Given the description of an element on the screen output the (x, y) to click on. 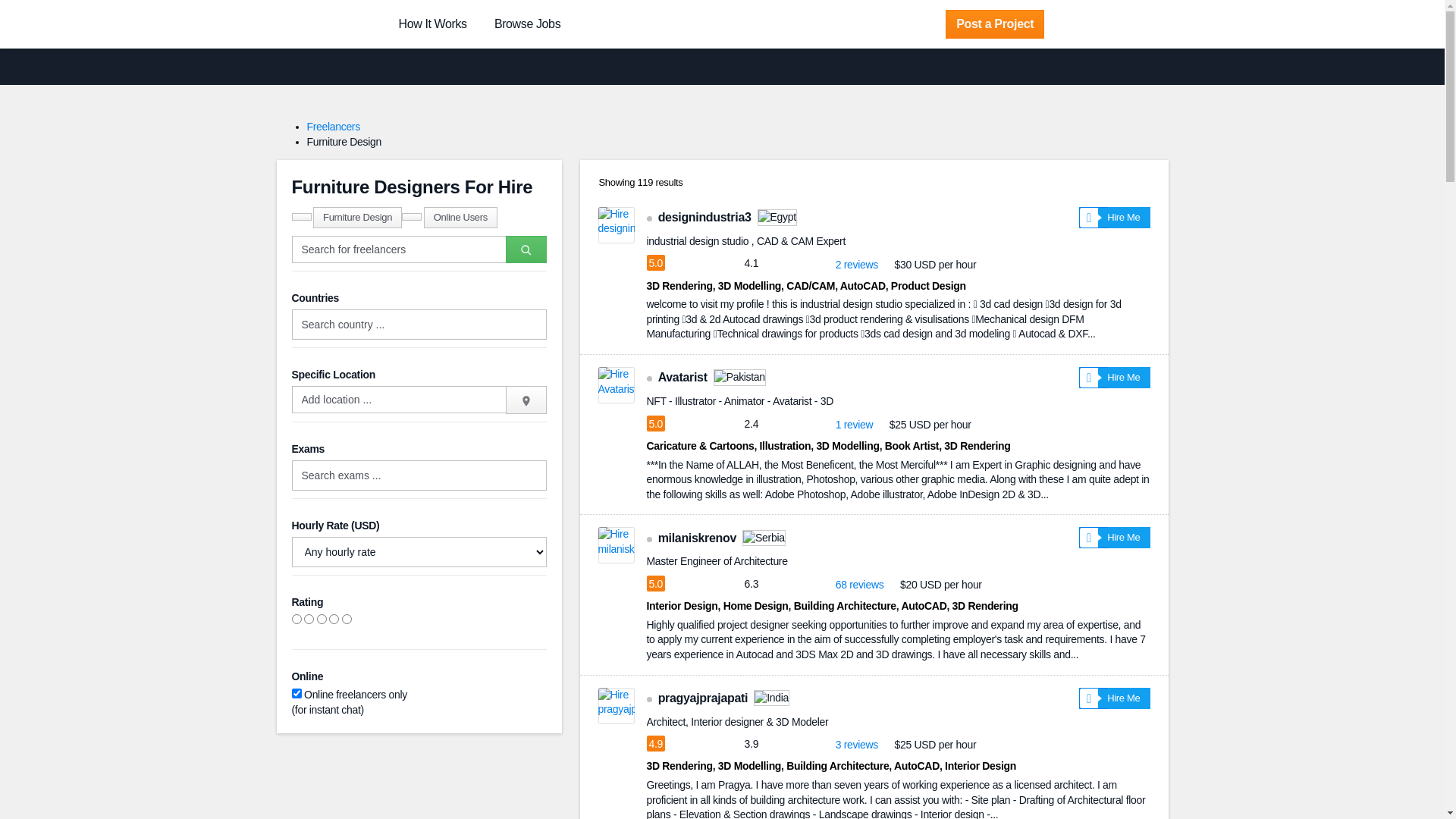
Pakistan Element type: hover (739, 377)
Building Architecture Element type: text (837, 765)
CAD/CAM Element type: text (810, 285)
Browse Jobs Element type: text (527, 24)
AutoCAD Element type: text (916, 765)
Illustration Element type: text (785, 445)
Set to current location Element type: hover (525, 399)
Interior Design Element type: text (980, 765)
India Element type: hover (771, 698)
Avatarist Element type: text (682, 377)
Product Design Element type: text (928, 285)
3D Rendering Element type: text (679, 765)
3 reviews Element type: text (856, 744)
Remove Online Users Criteria Element type: hover (411, 216)
3D Modelling Element type: text (749, 285)
3D Rendering Element type: text (679, 285)
pragyajprajapati Element type: text (702, 698)
AutoCAD Element type: text (862, 285)
How It Works Element type: text (432, 24)
Building Architecture Element type: text (844, 605)
458 Element type: text (300, 216)
AutoCAD Element type: text (923, 605)
Hire Me Element type: text (1114, 537)
designindustria3 Element type: text (704, 217)
Hire Me Element type: text (1114, 377)
Hire Me Element type: text (1114, 698)
1 review Element type: text (854, 424)
Egypt Element type: hover (777, 217)
Hire Me Element type: text (1114, 217)
68 reviews Element type: text (859, 584)
Caricature & Cartoons Element type: text (699, 445)
3D Rendering Element type: text (985, 605)
Serbia Element type: hover (763, 538)
milaniskrenov Element type: text (697, 538)
Book Artist Element type: text (911, 445)
3D Rendering Element type: text (977, 445)
3D Modelling Element type: text (846, 445)
Interior Design Element type: text (681, 605)
2 reviews Element type: text (856, 264)
Post a Project Element type: text (994, 23)
Remove Skill Element type: hover (300, 216)
3D Modelling Element type: text (749, 765)
Home Design Element type: text (755, 605)
Freelancers Element type: text (332, 126)
